Given the description of an element on the screen output the (x, y) to click on. 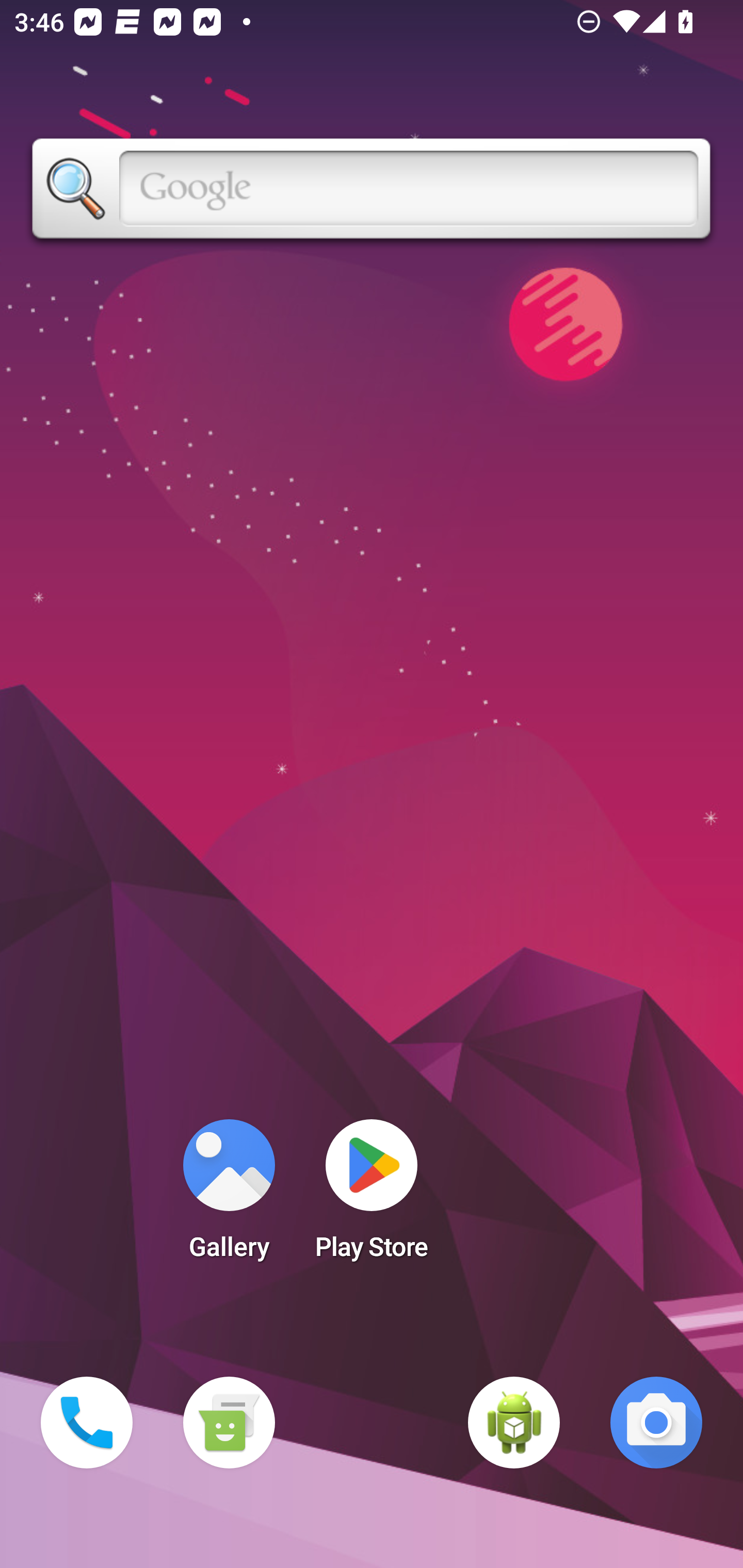
Gallery (228, 1195)
Play Store (371, 1195)
Phone (86, 1422)
Messaging (228, 1422)
WebView Browser Tester (513, 1422)
Camera (656, 1422)
